Given the description of an element on the screen output the (x, y) to click on. 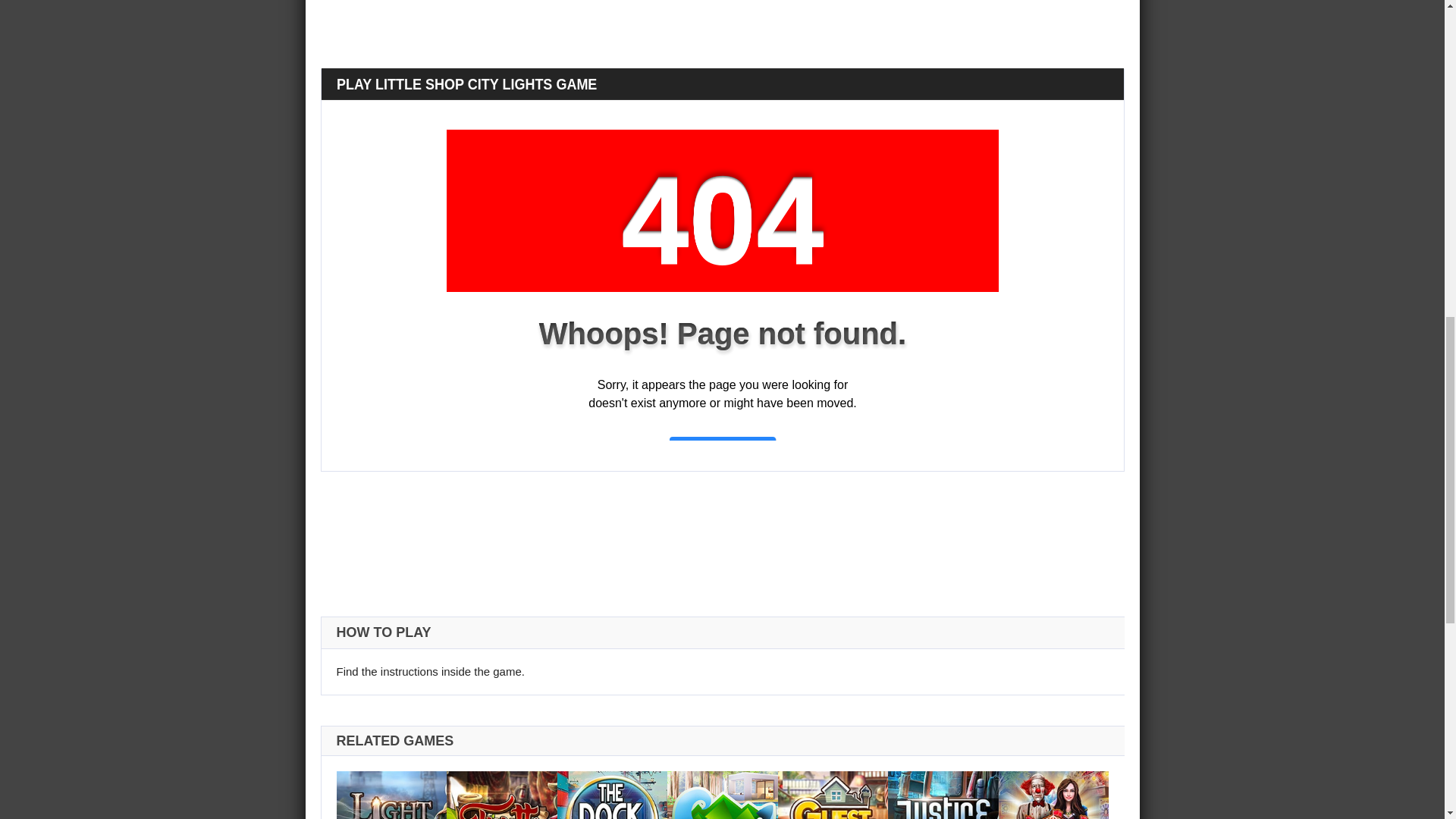
Truth and Lies (501, 816)
Light Through Fog (391, 816)
Justice for All (943, 816)
Guest House Renovation (832, 816)
Advertisement (775, 5)
The Dock Detective (612, 816)
Mountain Wellness (721, 816)
